Given the description of an element on the screen output the (x, y) to click on. 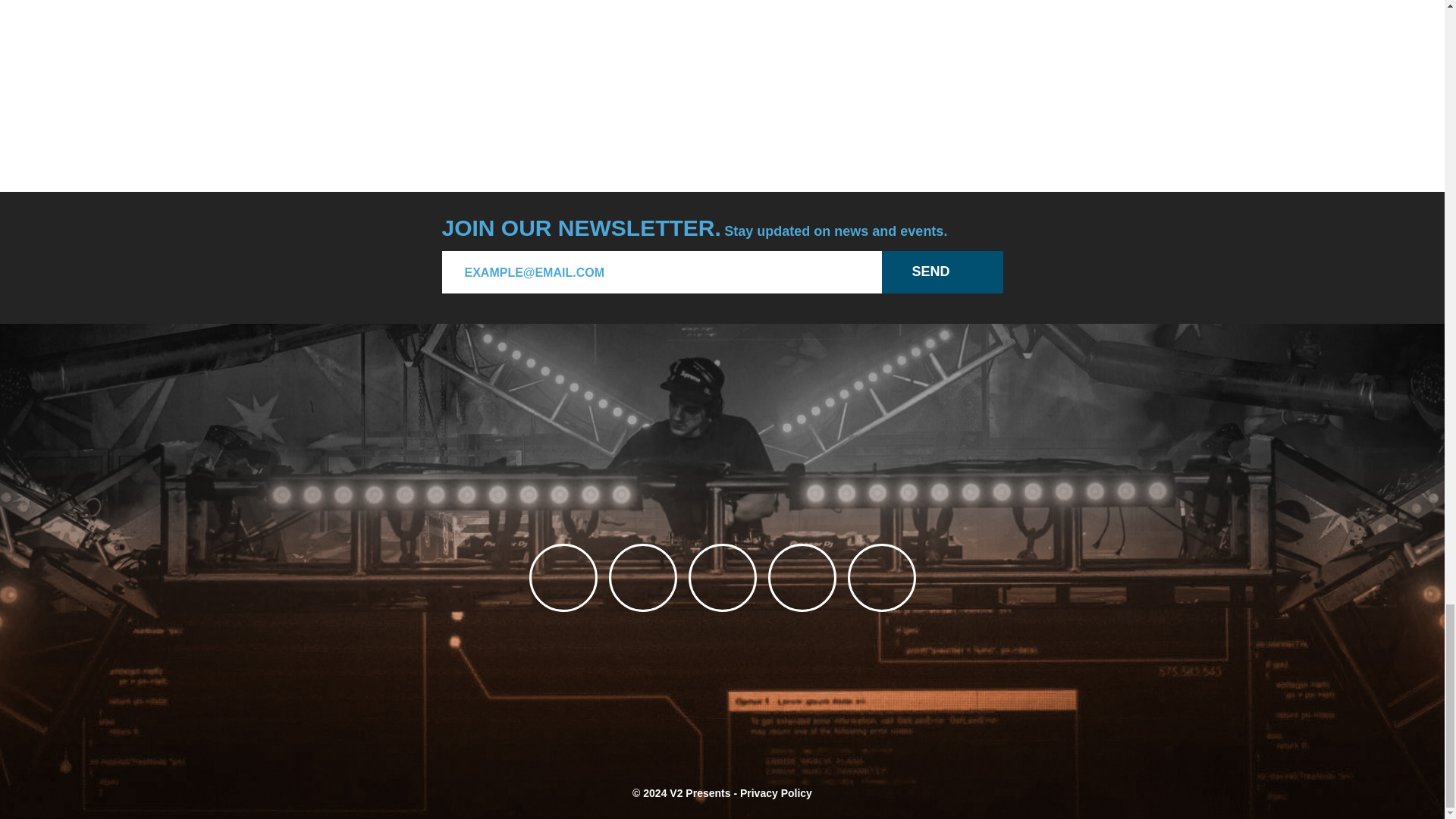
Privacy Policy (775, 793)
SEND (941, 271)
